Given the description of an element on the screen output the (x, y) to click on. 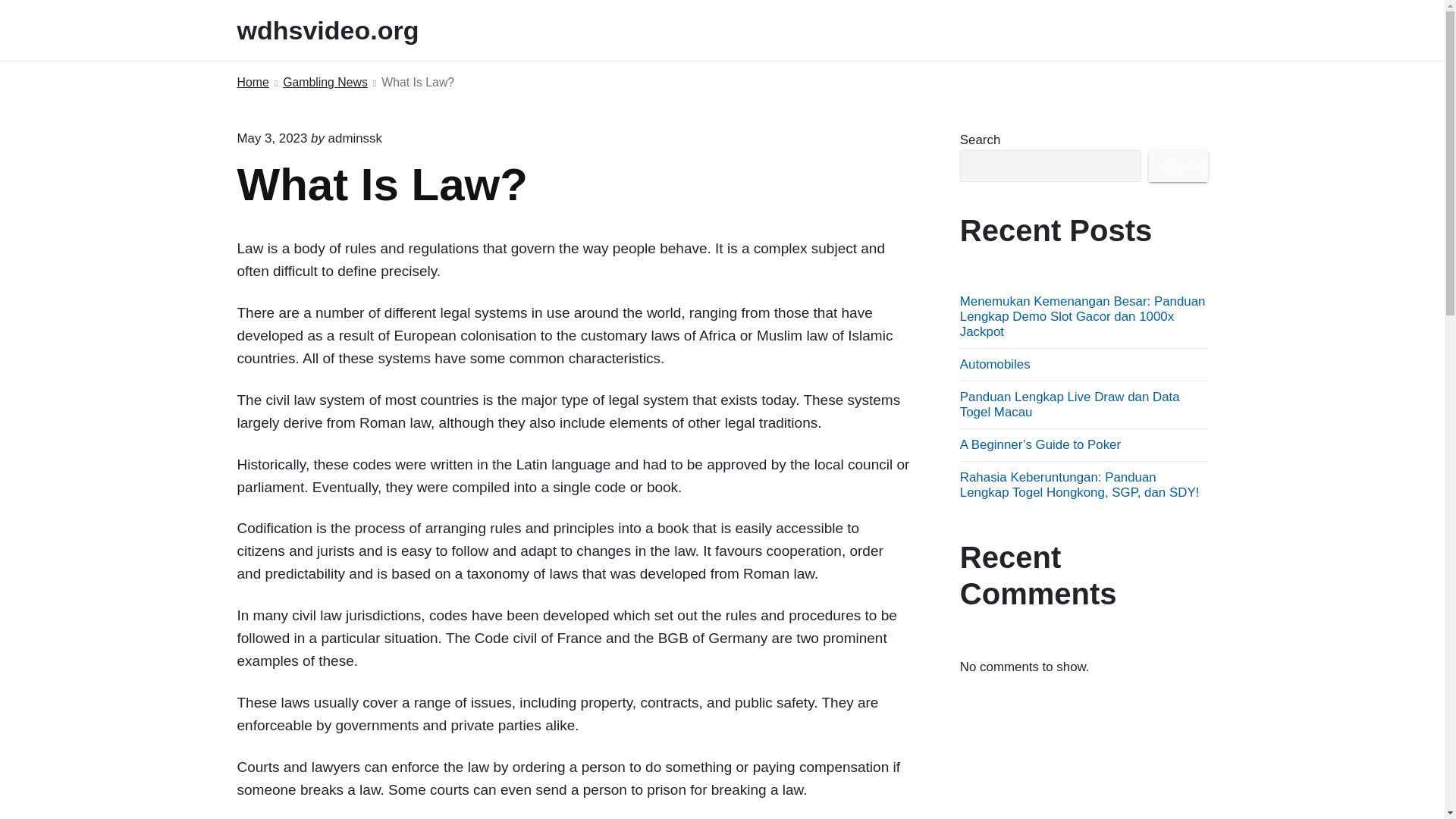
Panduan Lengkap Live Draw dan Data Togel Macau (1069, 404)
Posts by adminssk (355, 138)
Gambling News (325, 82)
SEARCH (1178, 165)
Automobiles (994, 364)
Home (251, 82)
Wednesday, May 3, 2023, 12:08 pm (271, 138)
wdhsvideo.org (347, 30)
adminssk (355, 138)
